Given the description of an element on the screen output the (x, y) to click on. 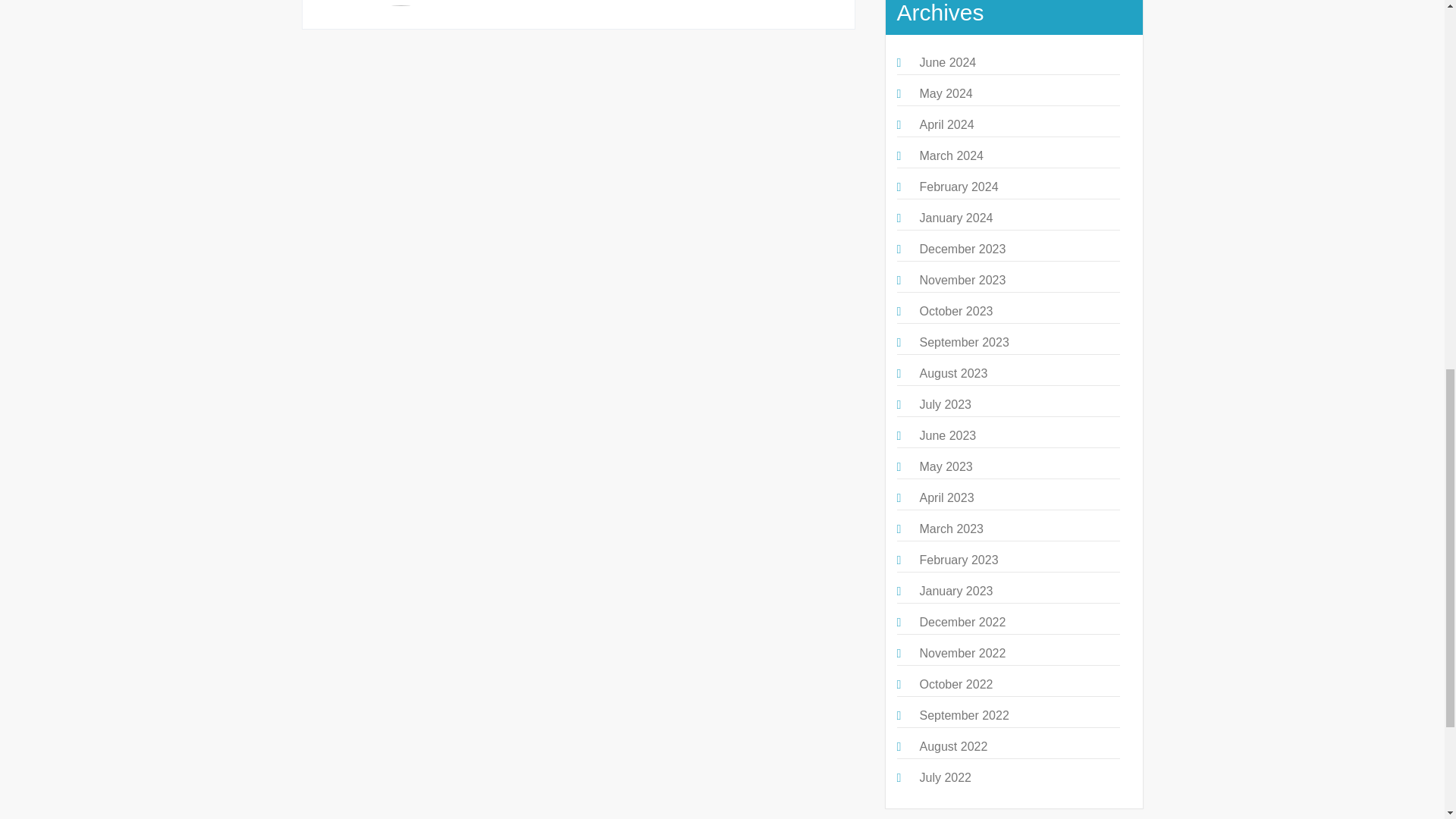
December 2023 (962, 248)
January 2023 (955, 590)
October 2022 (955, 684)
July 2023 (944, 404)
October 2023 (955, 310)
December 2022 (962, 621)
July 2022 (944, 777)
June 2024 (946, 62)
May 2024 (945, 92)
February 2023 (957, 559)
